Given the description of an element on the screen output the (x, y) to click on. 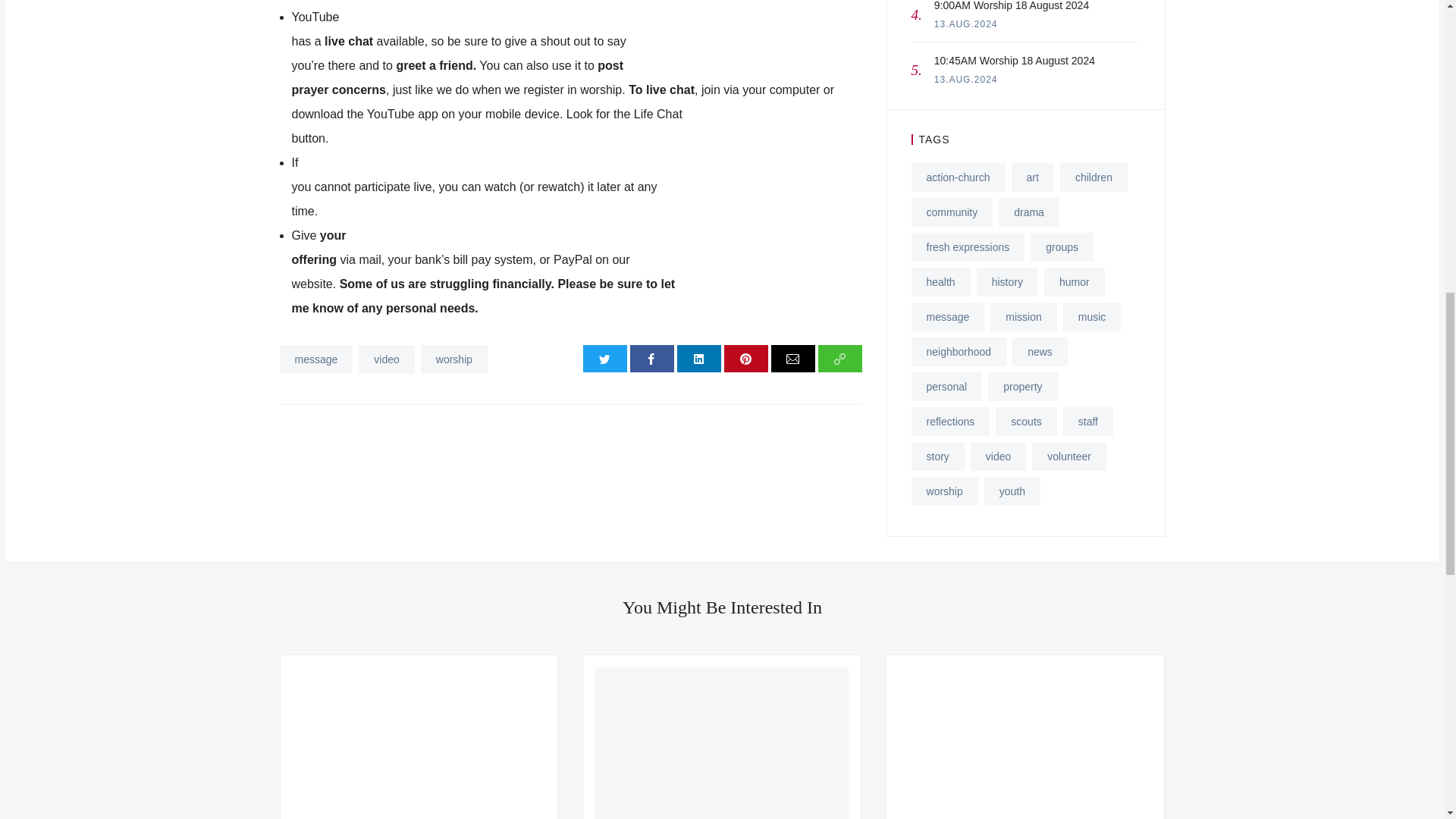
Share via Email (793, 358)
Share on Twitter (605, 358)
music (1091, 316)
Share on Facebook (652, 358)
drama (1028, 212)
worship (453, 358)
message (1025, 21)
fresh expressions (315, 358)
groups (968, 246)
